Given the description of an element on the screen output the (x, y) to click on. 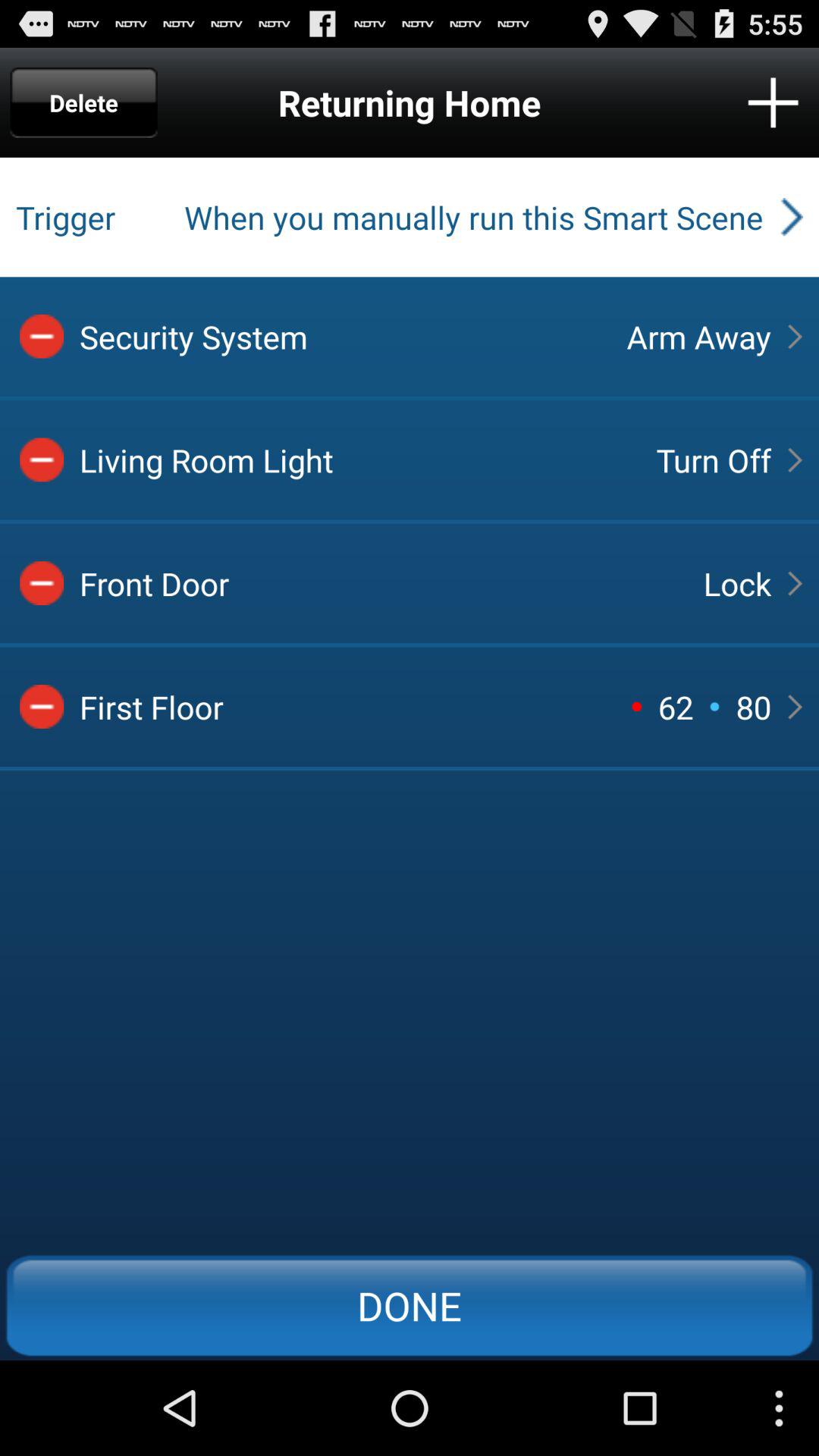
go back (41, 706)
